Given the description of an element on the screen output the (x, y) to click on. 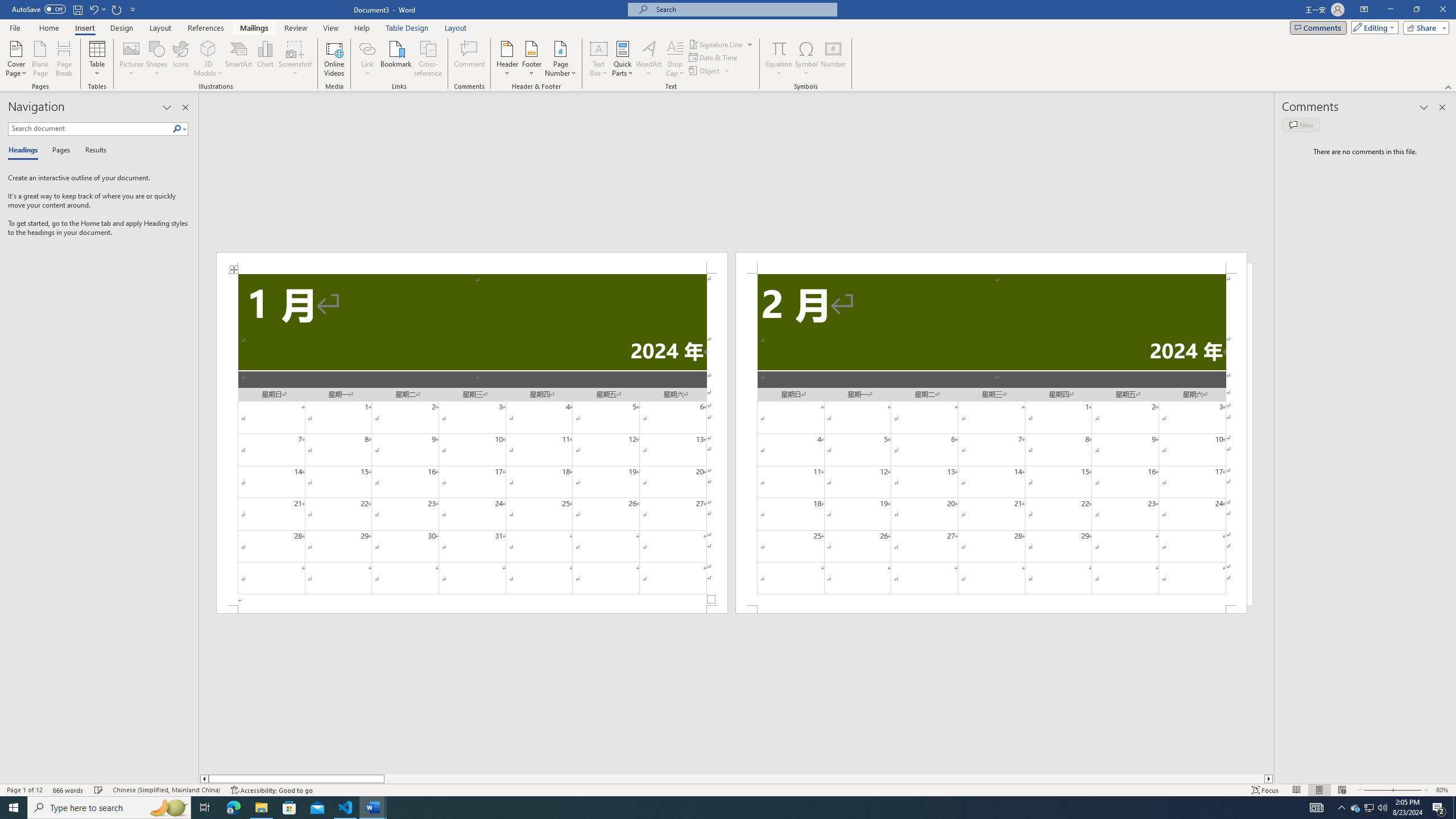
Screenshot (295, 58)
Signature Line (721, 44)
Table (97, 58)
Object... (709, 69)
Column left (203, 778)
Object... (705, 69)
Table Design (407, 28)
